Given the description of an element on the screen output the (x, y) to click on. 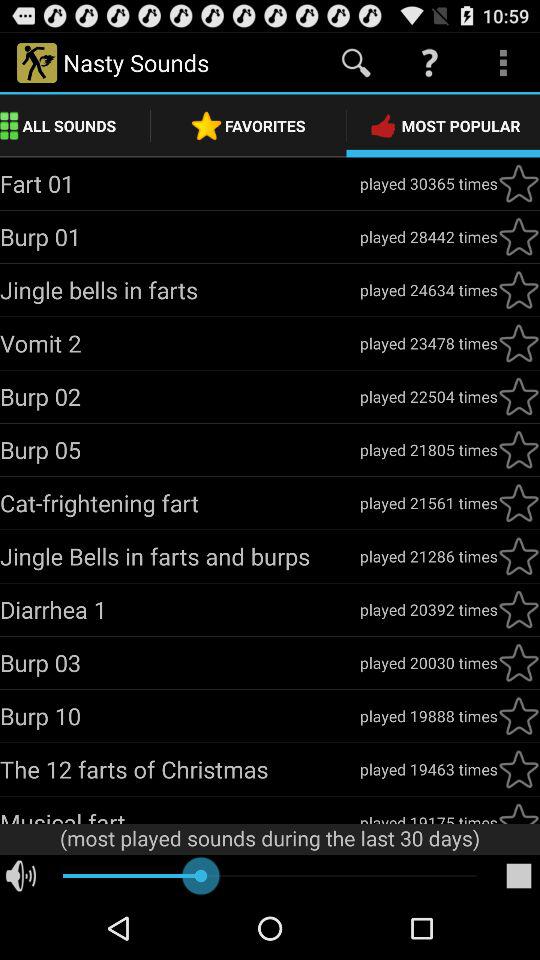
scroll until the played 19175 times item (428, 817)
